Given the description of an element on the screen output the (x, y) to click on. 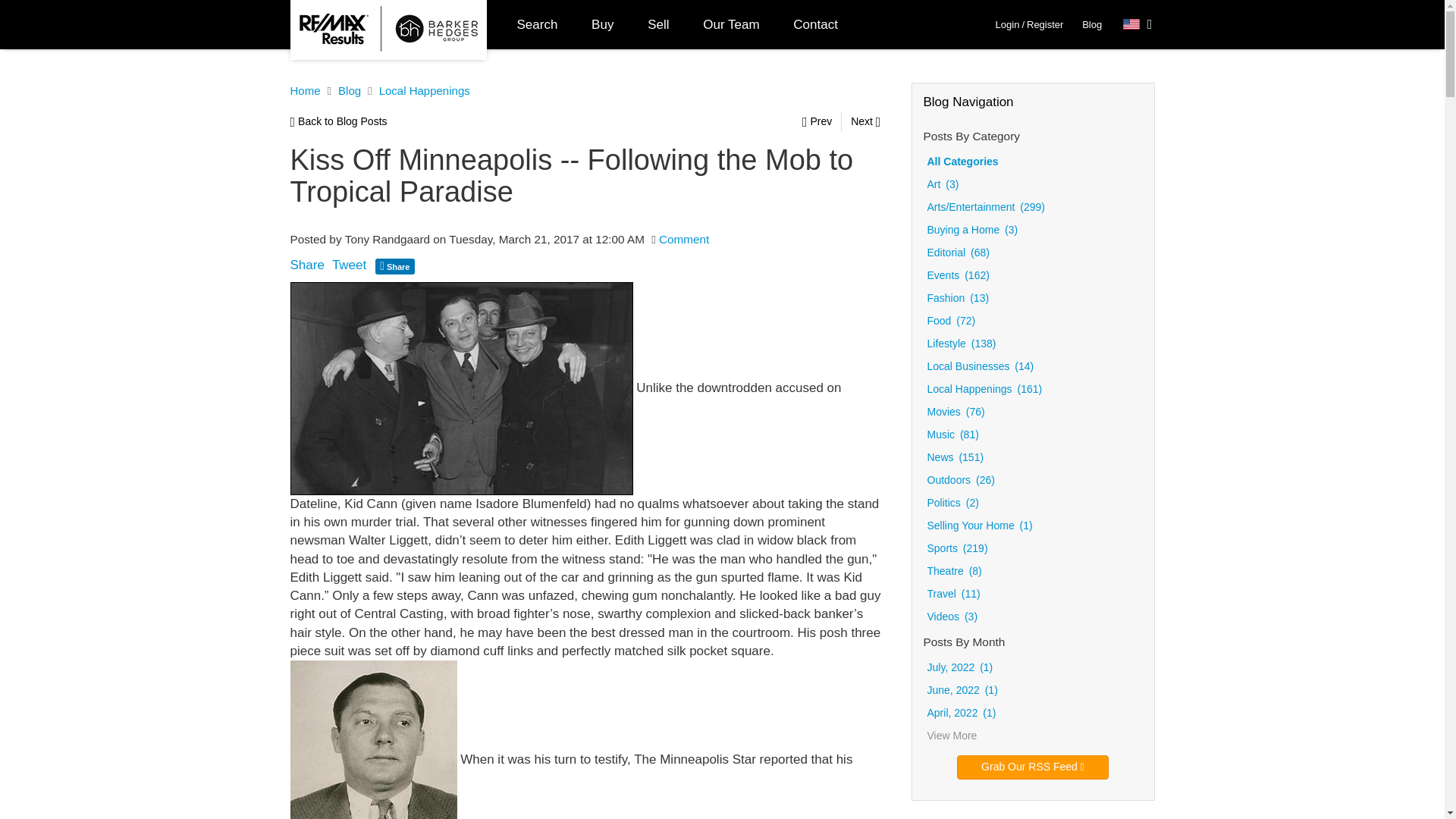
Buy (602, 24)
Register (1044, 24)
Blog (1091, 24)
Sell (657, 24)
Select Language (1137, 24)
Search (537, 24)
